Given the description of an element on the screen output the (x, y) to click on. 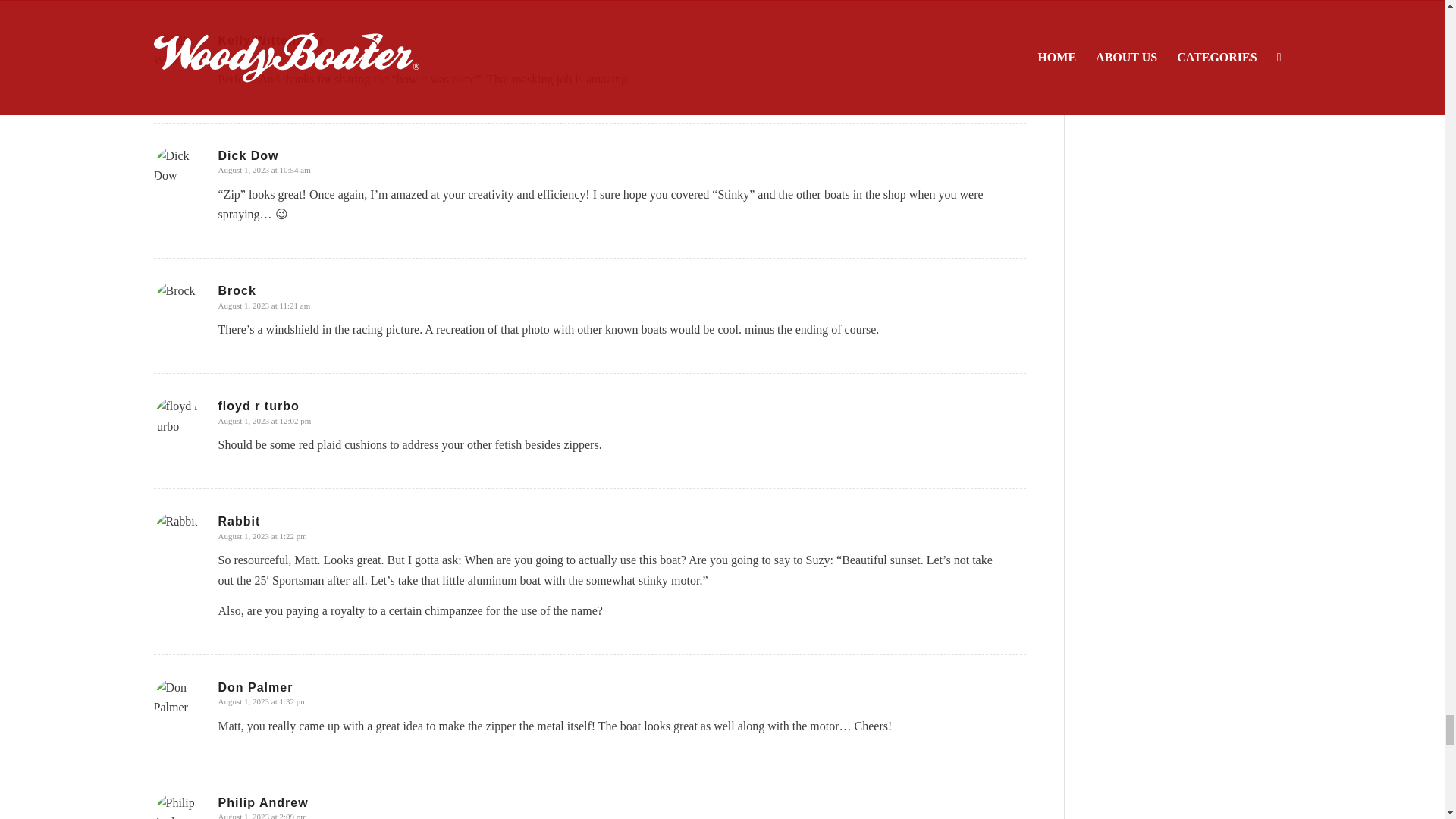
August 1, 2023 at 12:02 pm (264, 420)
August 1, 2023 at 1:22 pm (262, 535)
August 1, 2023 at 1:32 pm (262, 700)
August 1, 2023 at 10:54 am (264, 169)
August 1, 2023 at 11:21 am (264, 305)
August 1, 2023 at 10:10 am (264, 53)
